Given the description of an element on the screen output the (x, y) to click on. 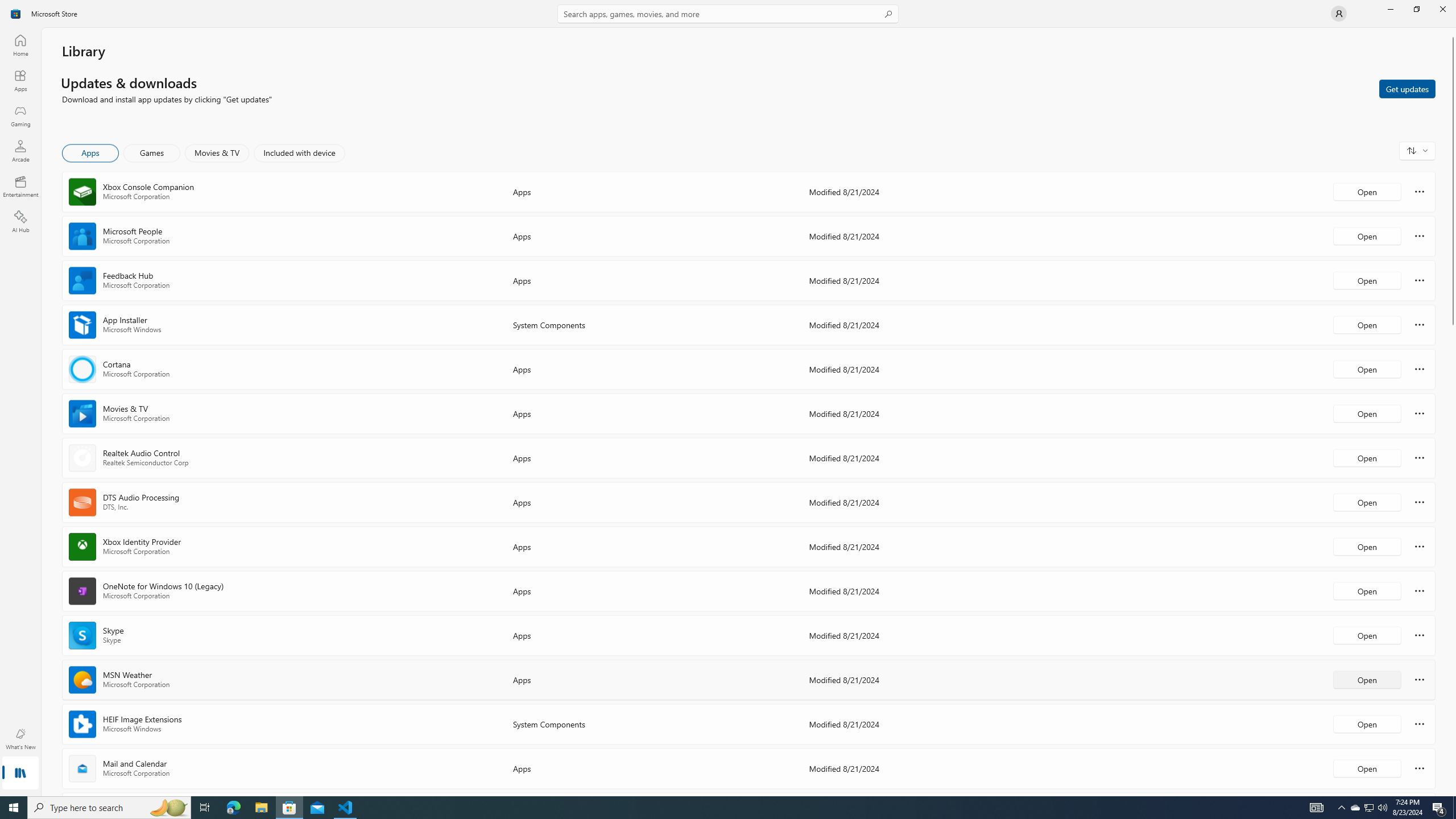
Gaming (20, 115)
AI Hub (20, 221)
AutomationID: NavigationControl (728, 398)
Search (727, 13)
Arcade (20, 150)
Vertical Large Increase (1452, 557)
Minimize Microsoft Store (1390, 9)
Class: Image (15, 13)
Get updates (1406, 88)
Home (20, 45)
Vertical (1452, 412)
Sort and filter (1417, 149)
